Given the description of an element on the screen output the (x, y) to click on. 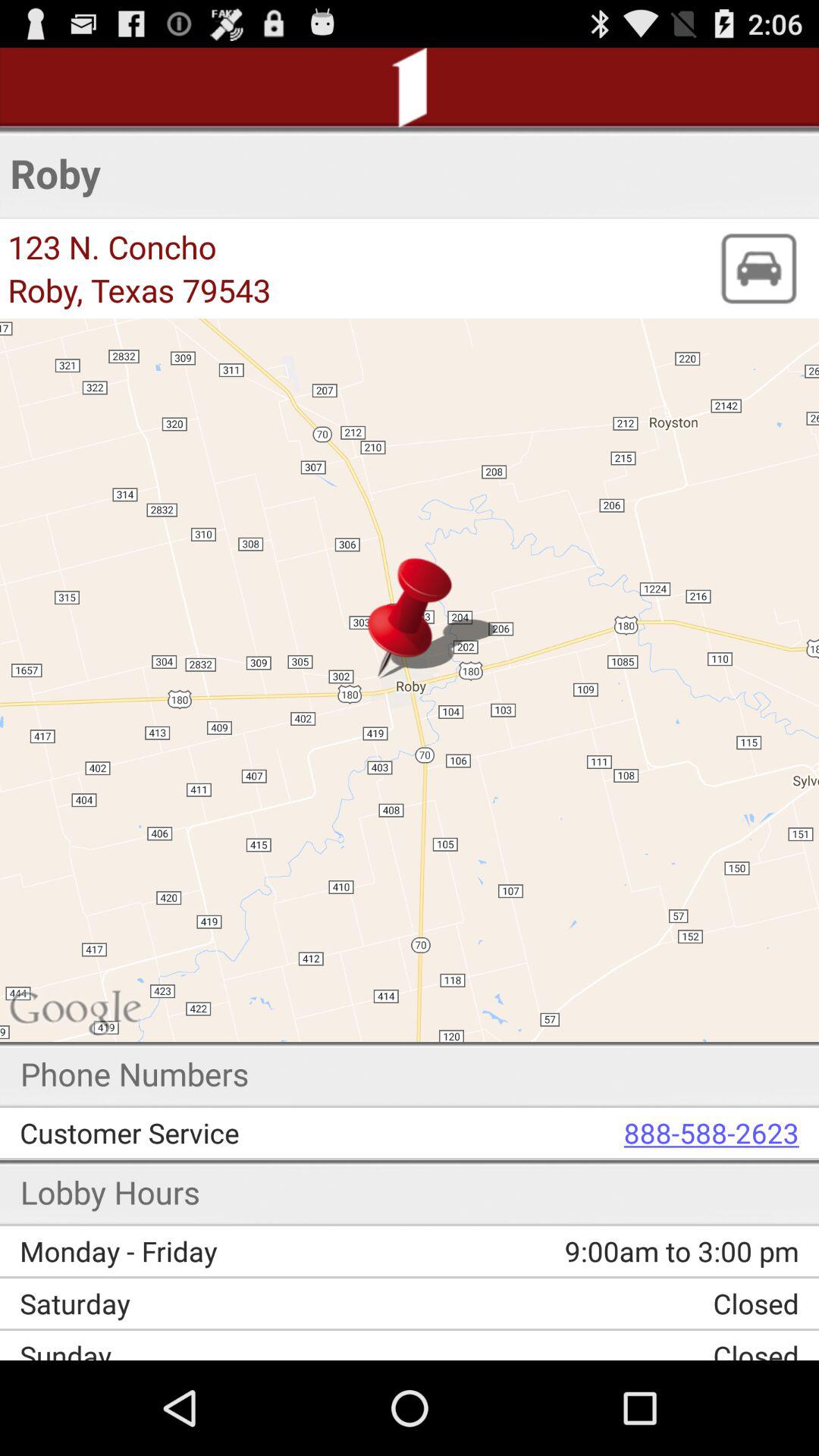
jump to lobby hours app (110, 1191)
